Given the description of an element on the screen output the (x, y) to click on. 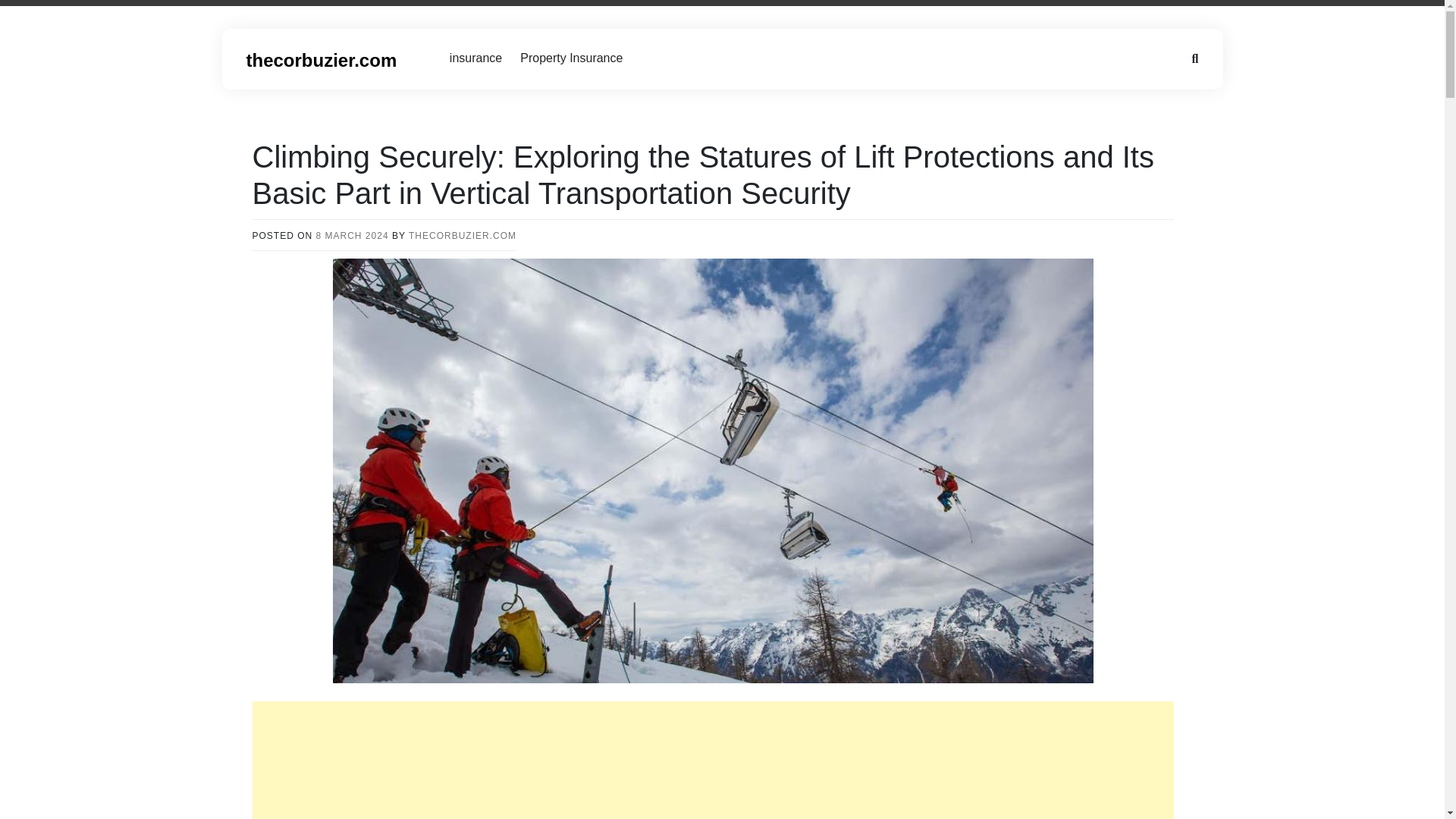
THECORBUZIER.COM (462, 235)
8 MARCH 2024 (351, 235)
Property Insurance (571, 58)
insurance (476, 58)
thecorbuzier.com (321, 59)
